Given the description of an element on the screen output the (x, y) to click on. 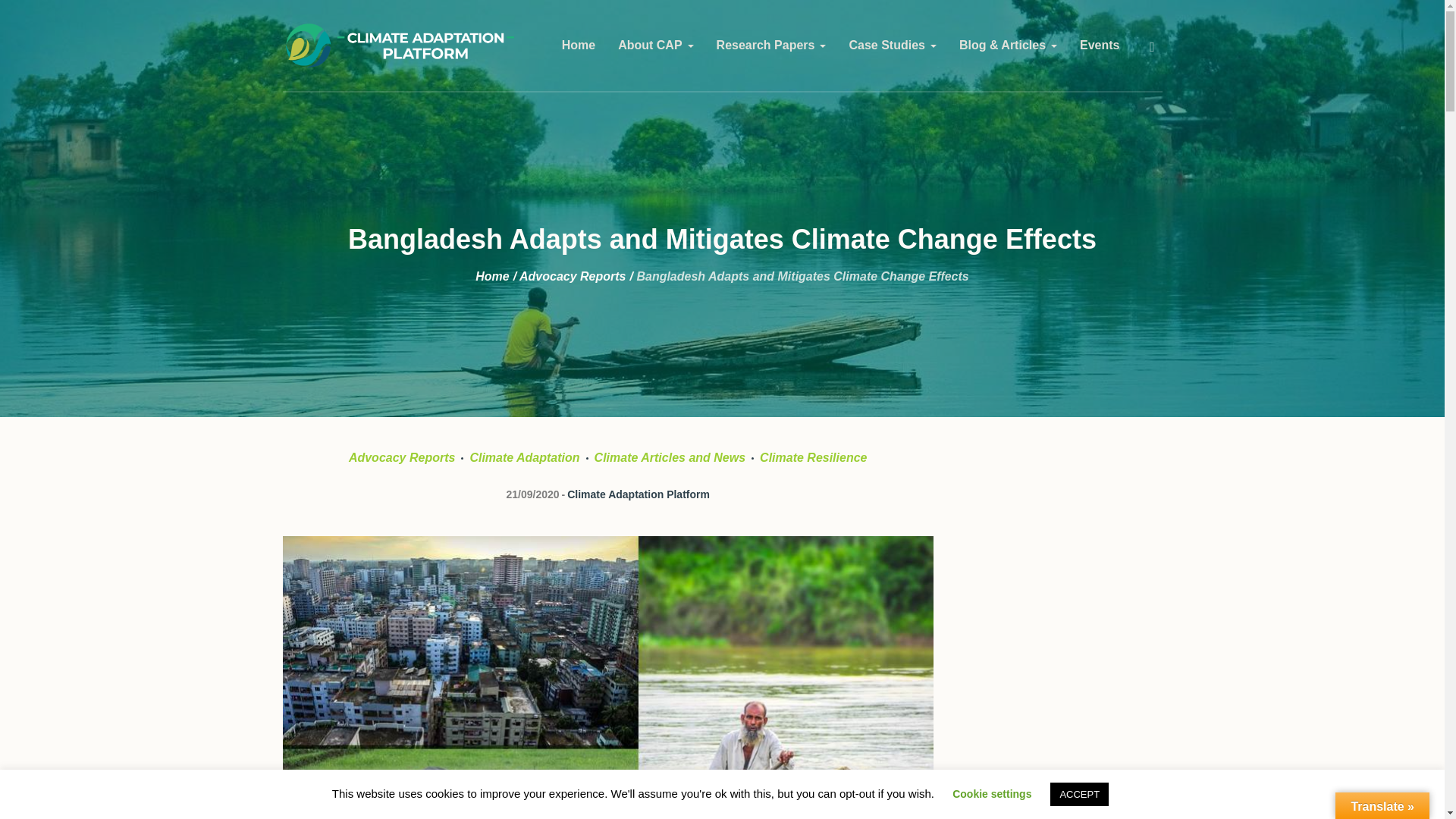
Home (578, 45)
About CAP (655, 45)
Case Studies (892, 45)
Research Papers (771, 45)
About Climate Adaptation Platform (655, 45)
Bangladesh Adapts and Mitigates Climate Change Effects (607, 752)
Posts by Climate Adaptation Platform (638, 494)
